Given the description of an element on the screen output the (x, y) to click on. 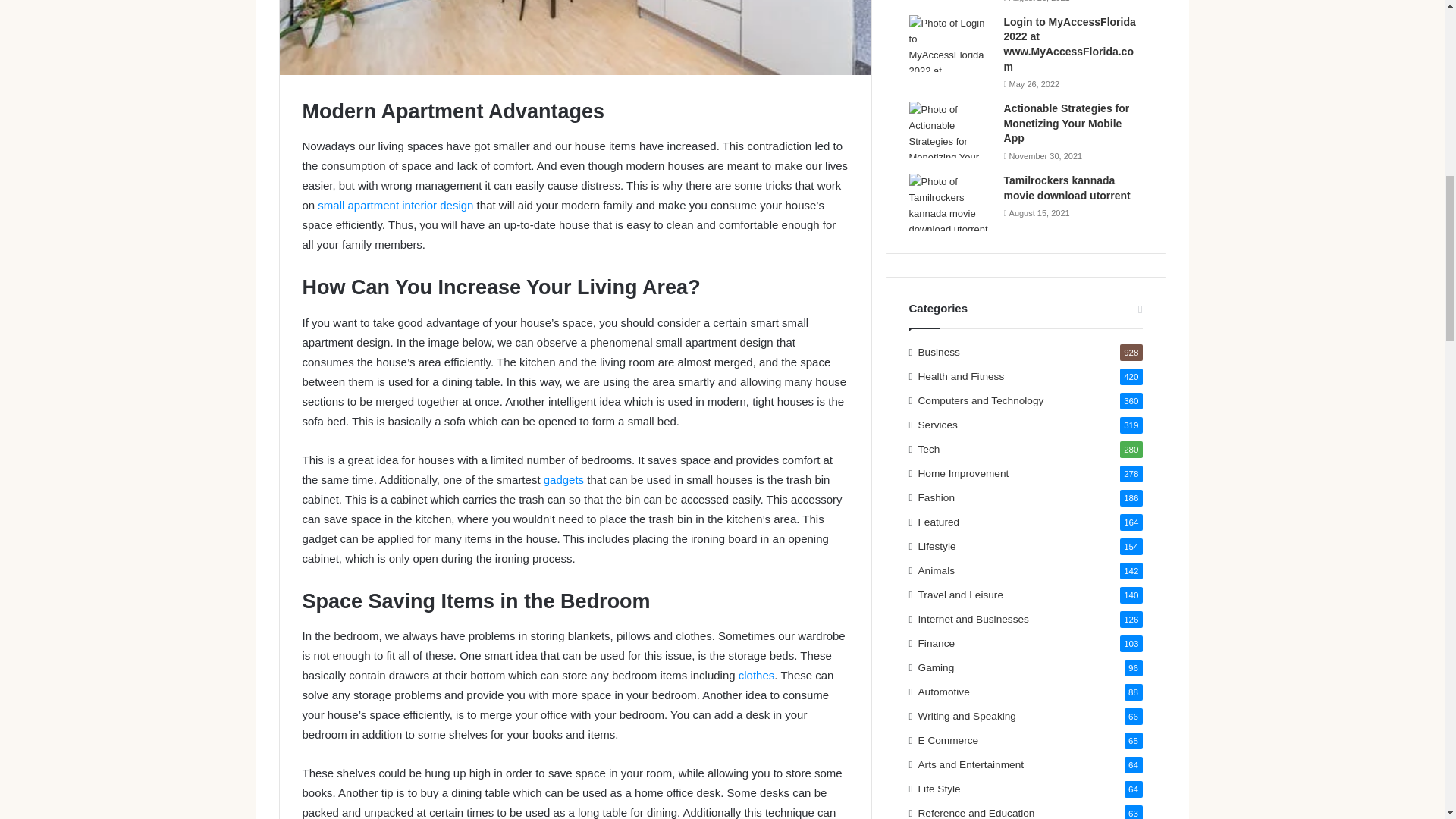
gadgets (563, 479)
small apartment interior design (395, 205)
clothes (756, 675)
